Given the description of an element on the screen output the (x, y) to click on. 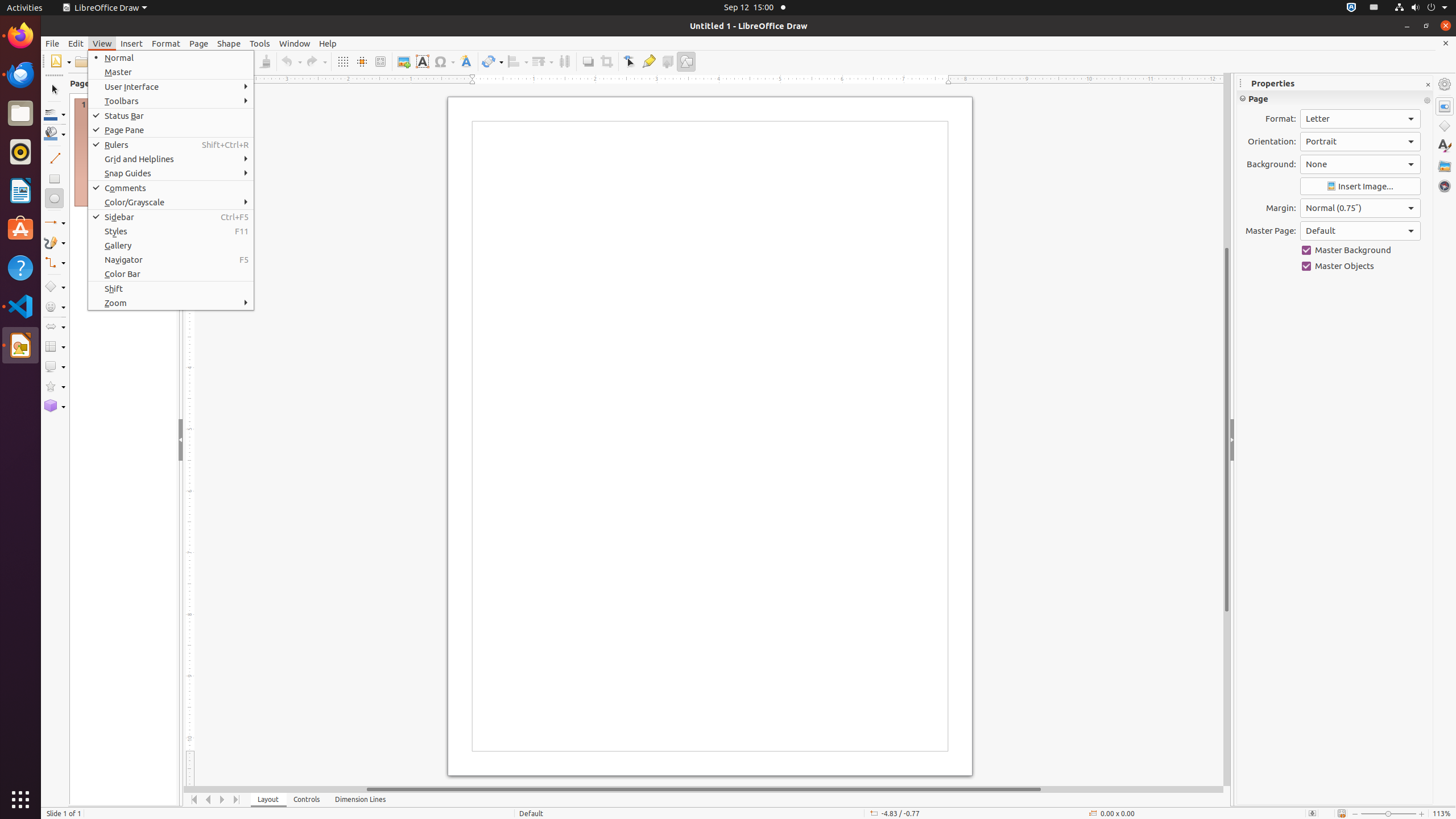
Redo Element type: push-button (315, 61)
LibreOffice Draw Element type: push-button (20, 344)
Move To Home Element type: push-button (194, 799)
